Given the description of an element on the screen output the (x, y) to click on. 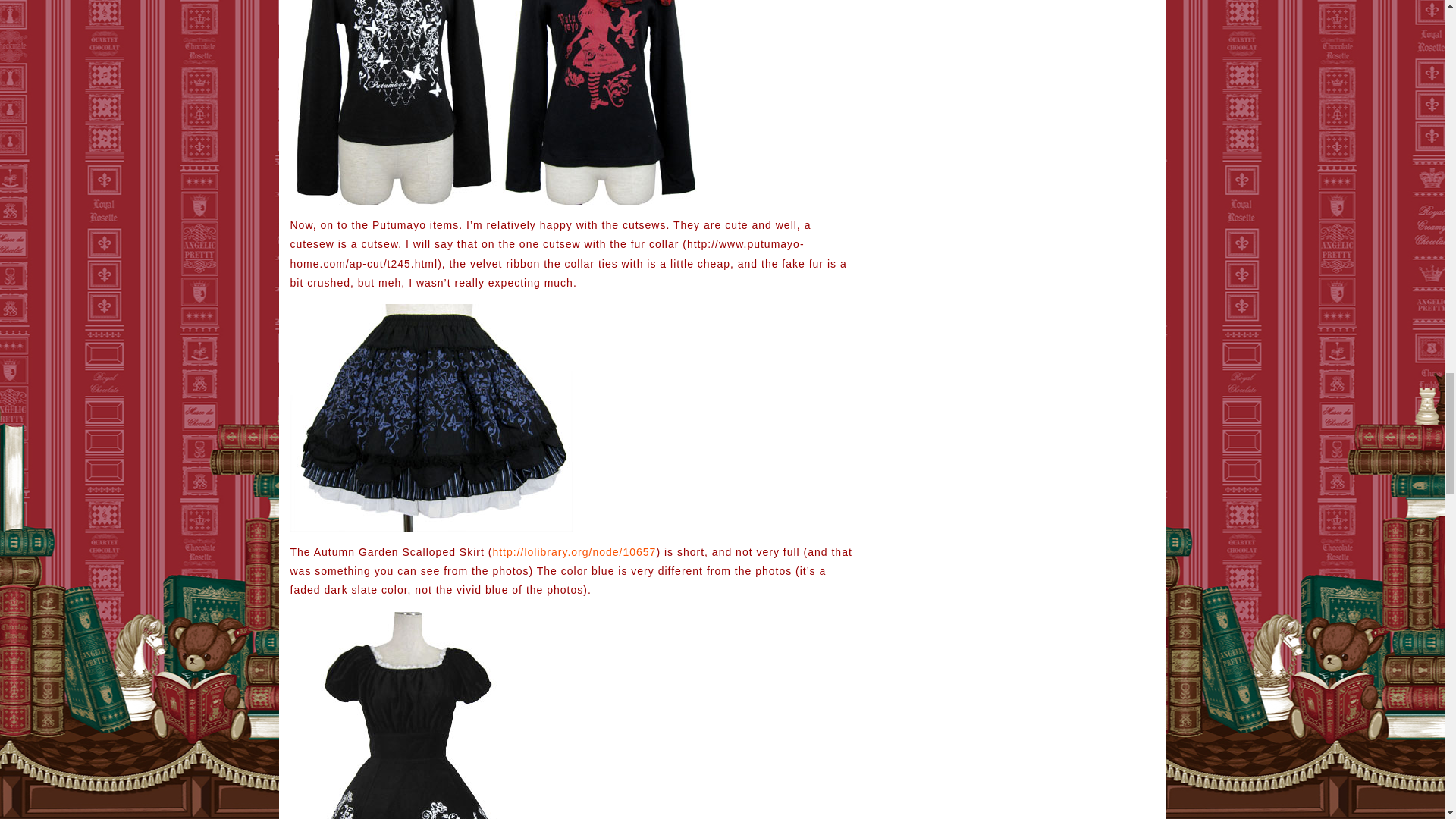
14240031bkwh (392, 102)
15240086bkwh (413, 715)
15240011bkrd (597, 102)
14240074bkbk (430, 417)
